Given the description of an element on the screen output the (x, y) to click on. 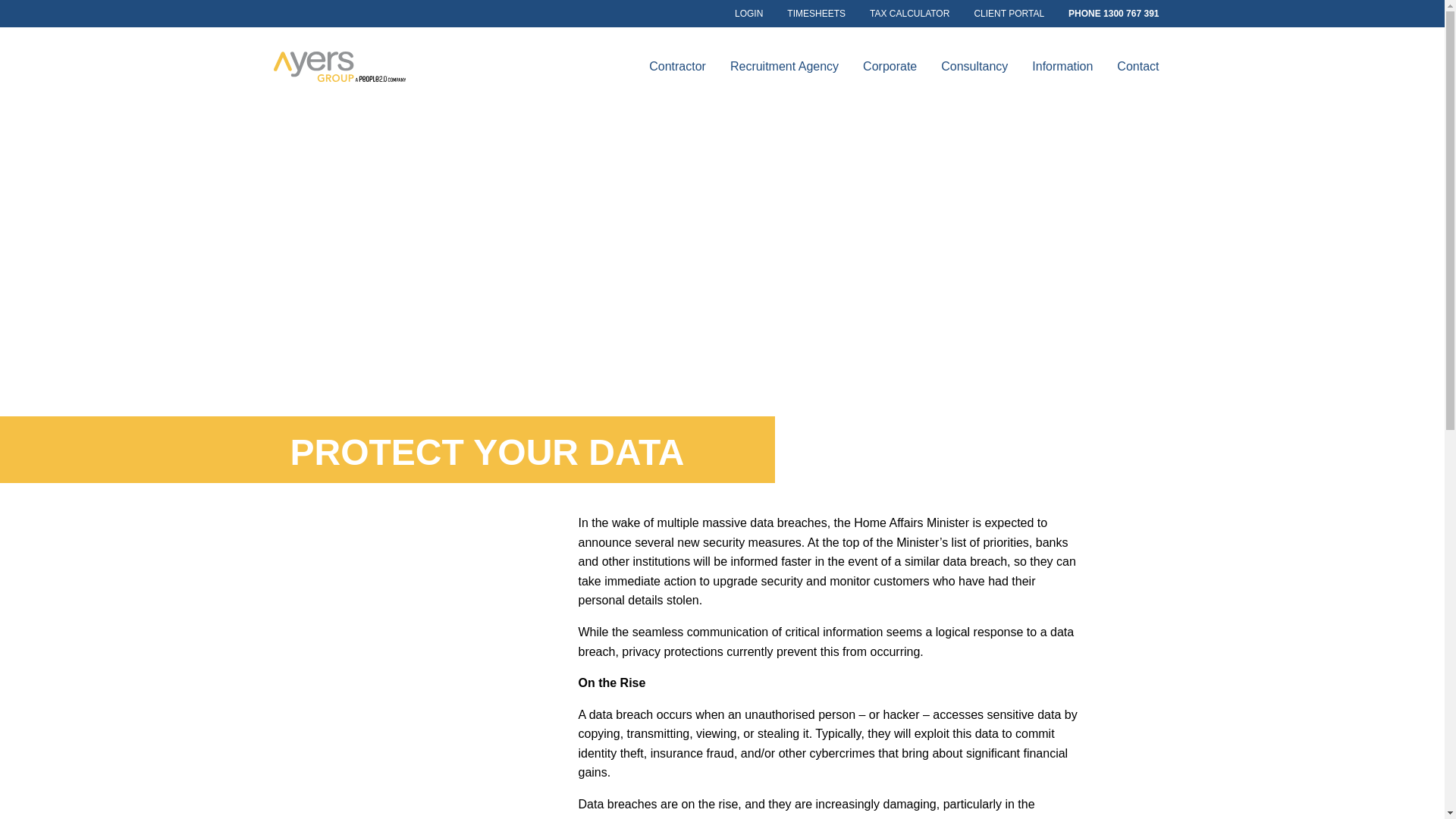
TIMESHEETS (815, 13)
CLIENT PORTAL (1008, 13)
LOGIN (748, 13)
PHONE 1300 767 391 (1113, 13)
TAX CALCULATOR (908, 13)
Contractor (677, 66)
